Given the description of an element on the screen output the (x, y) to click on. 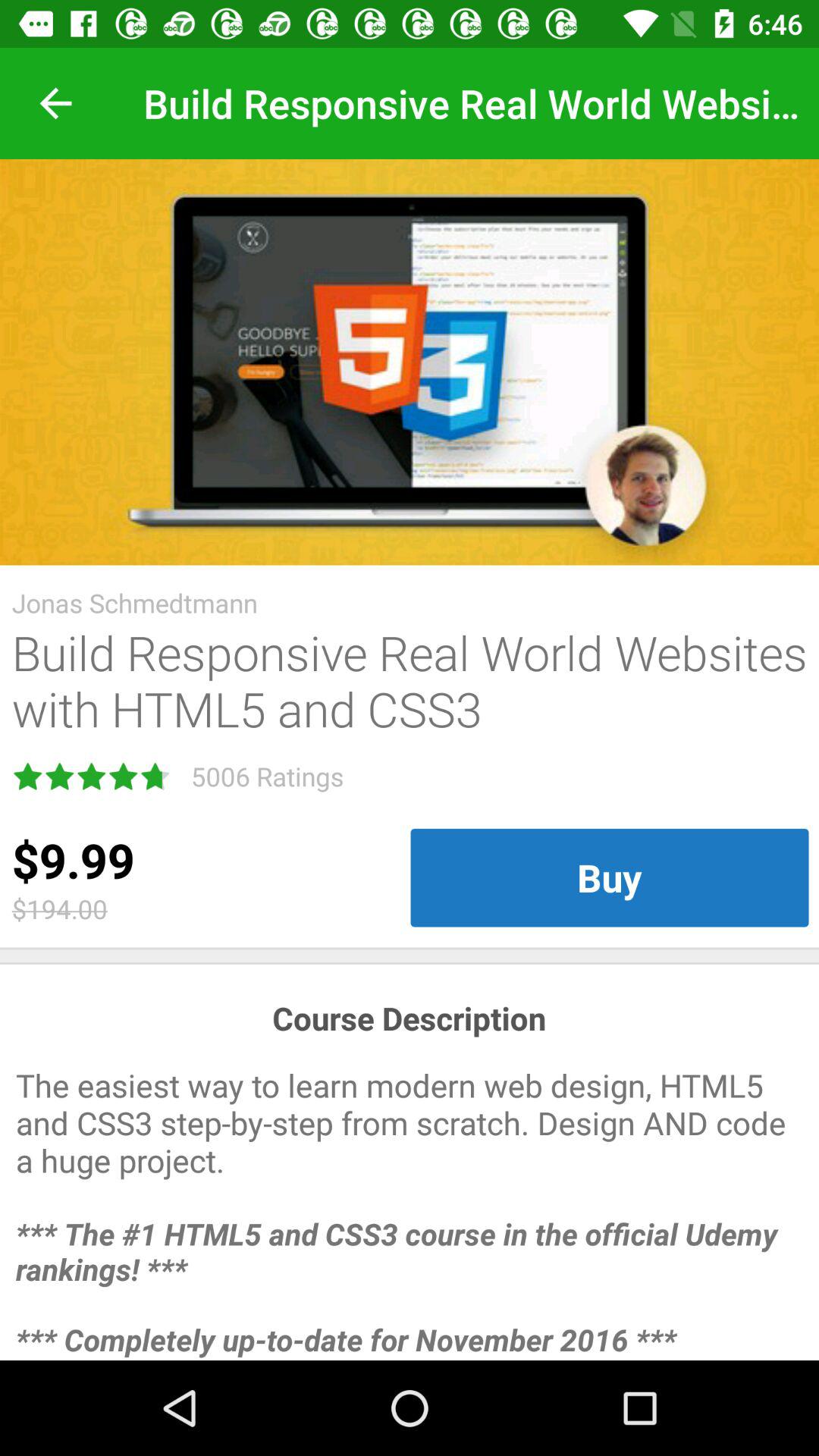
launch item below build responsive real item (609, 877)
